Given the description of an element on the screen output the (x, y) to click on. 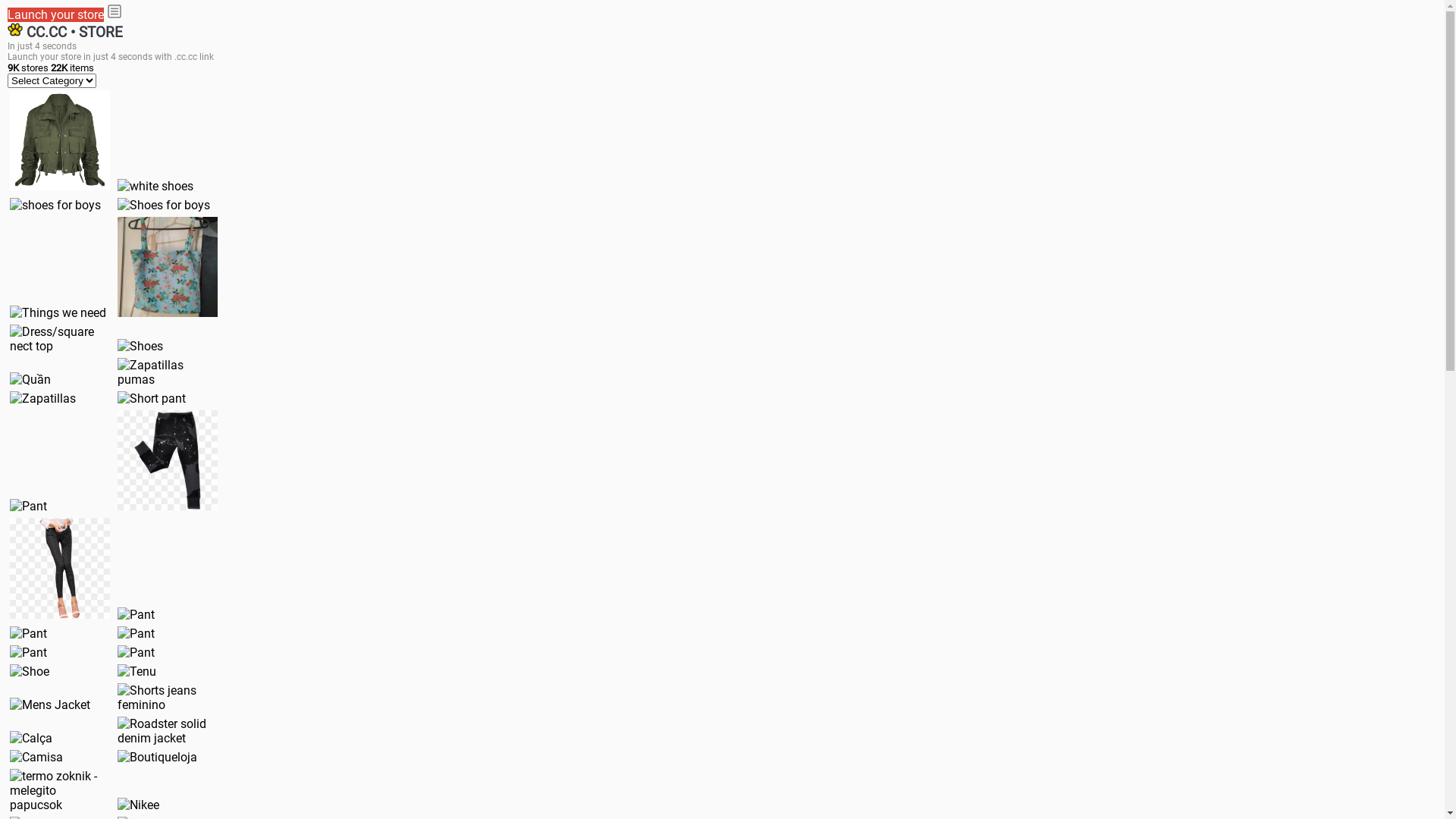
white shoes Element type: hover (155, 185)
Pant Element type: hover (28, 505)
Pant Element type: hover (135, 651)
Ukay cloth Element type: hover (167, 266)
Shoes Element type: hover (140, 345)
Zapatillas pumas Element type: hover (167, 371)
Launch your store Element type: text (55, 14)
jacket Element type: hover (59, 140)
Shoes for boys Element type: hover (163, 204)
Pant Element type: hover (28, 633)
Pant Element type: hover (135, 613)
Pant Element type: hover (28, 651)
Mens Jacket Element type: hover (49, 704)
Pant Element type: hover (59, 567)
Nikee Element type: hover (138, 804)
Roadster solid denim jacket Element type: hover (167, 729)
Dress/square nect top Element type: hover (59, 338)
Boutiqueloja Element type: hover (157, 756)
Things we need Element type: hover (57, 312)
Short pant Element type: hover (151, 398)
Tenu Element type: hover (136, 671)
Shorts jeans feminino Element type: hover (167, 696)
Shoe Element type: hover (29, 671)
Camisa Element type: hover (35, 756)
Pant Element type: hover (167, 460)
Zapatillas Element type: hover (42, 398)
Pant Element type: hover (135, 633)
shoes for boys Element type: hover (54, 204)
termo zoknik - melegito papucsok Element type: hover (59, 790)
